Given the description of an element on the screen output the (x, y) to click on. 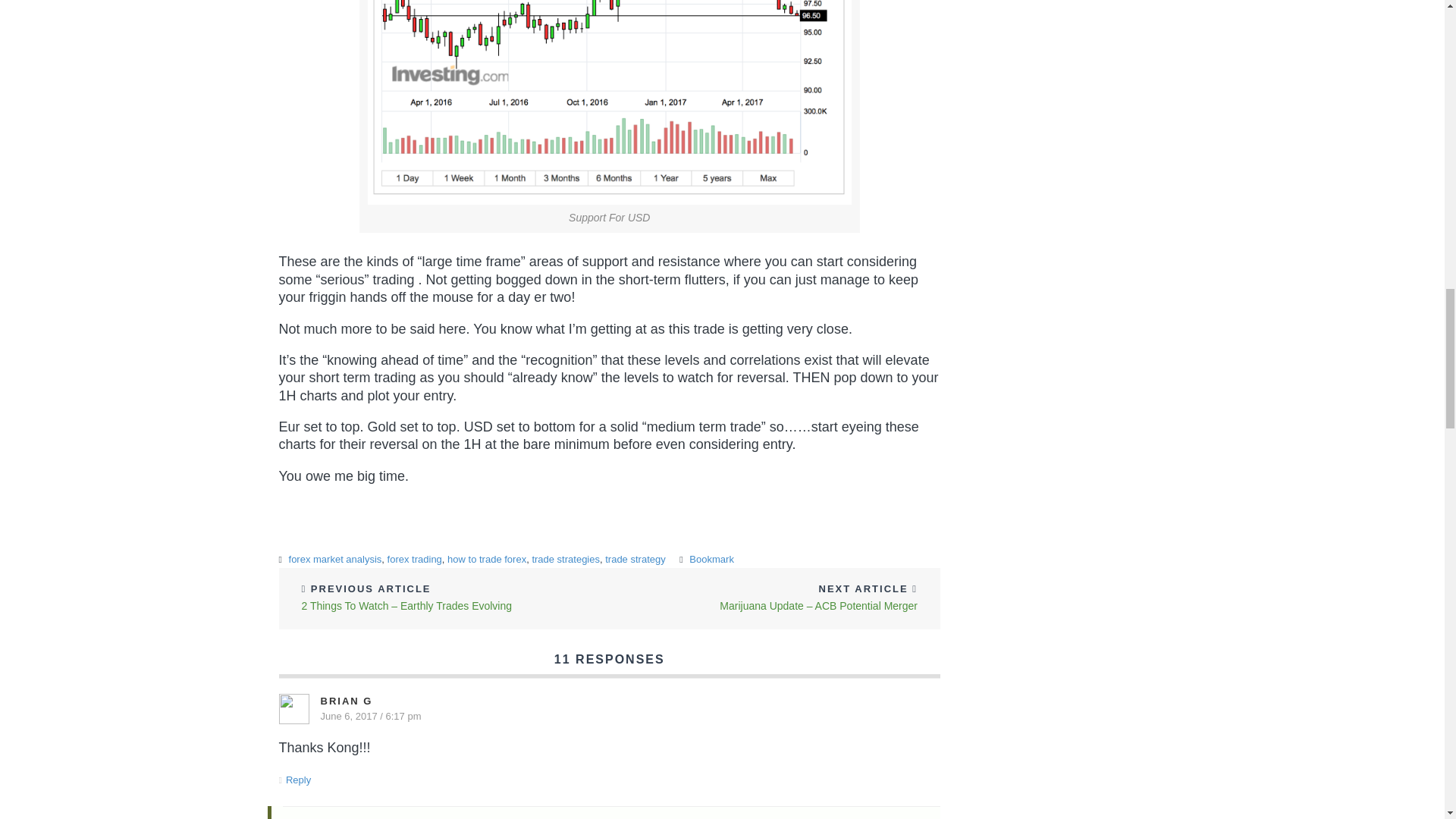
Reply (298, 779)
trade strategy (635, 559)
Bookmark (710, 559)
forex trading (414, 559)
trade strategies (565, 559)
forex market analysis (334, 559)
how to trade forex (485, 559)
